Given the description of an element on the screen output the (x, y) to click on. 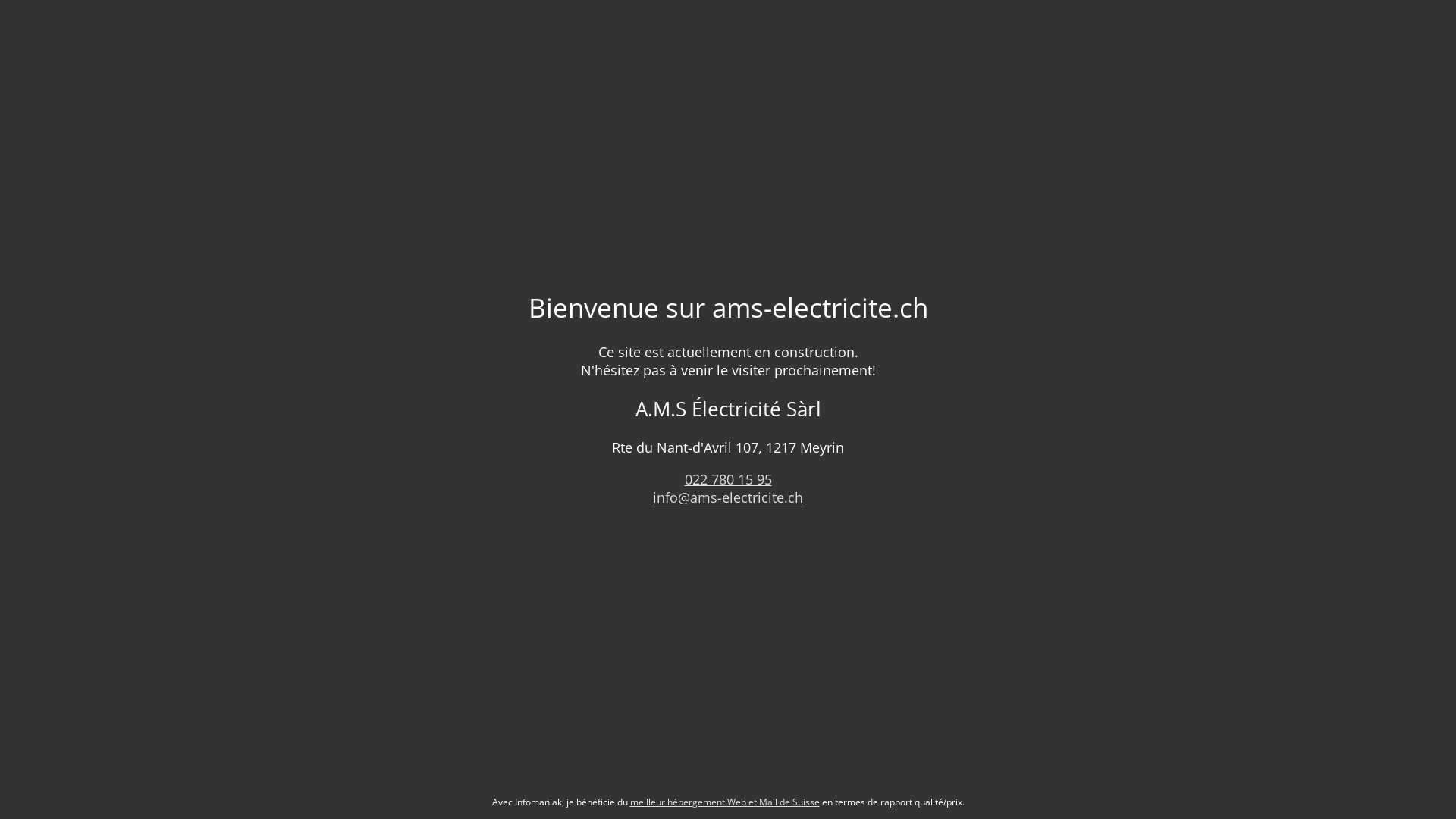
022 780 15 95 Element type: text (727, 479)
info@ams-electricite.ch Element type: text (727, 497)
